Given the description of an element on the screen output the (x, y) to click on. 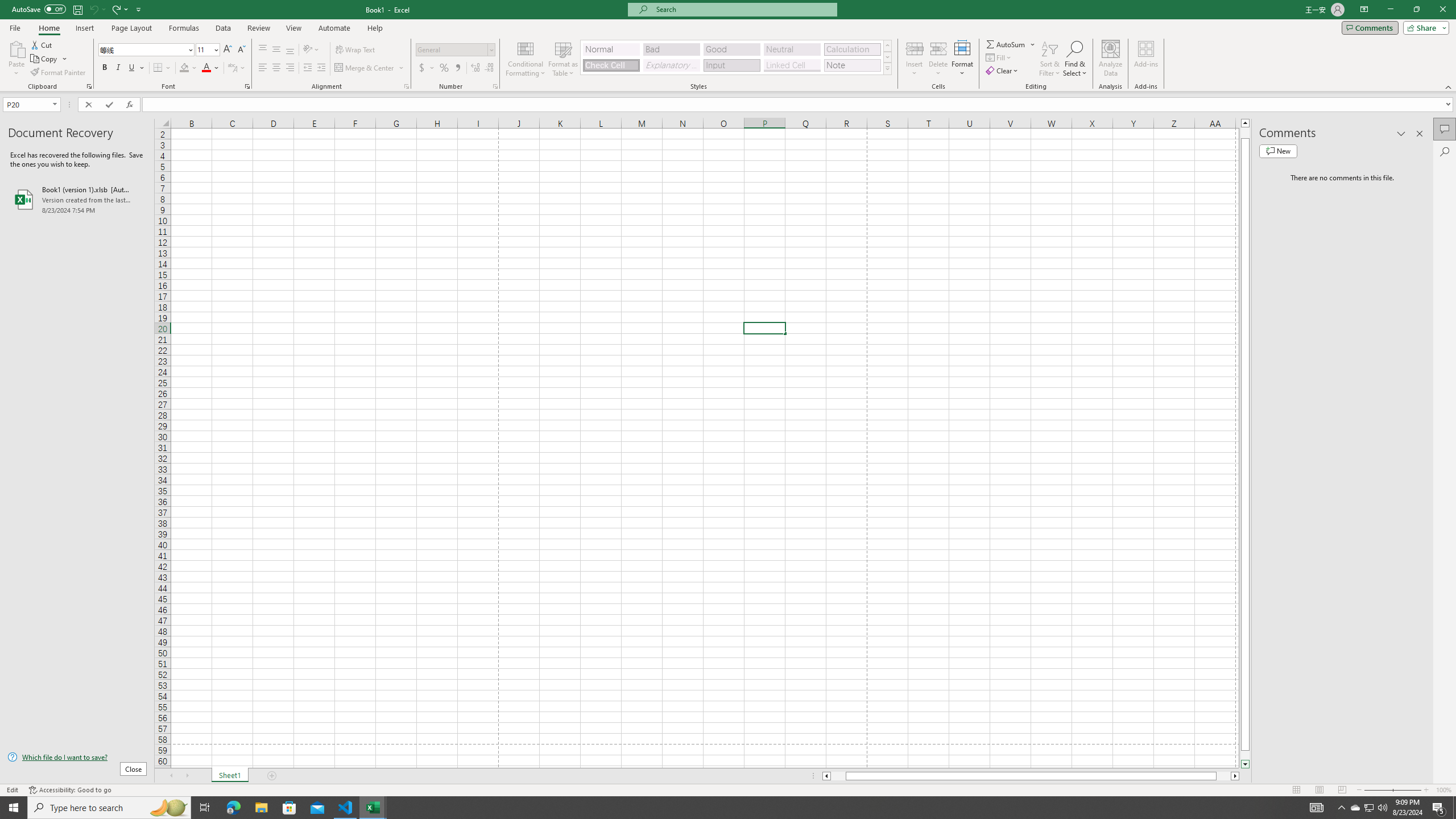
Orientation (311, 49)
Bold (104, 67)
Font (142, 49)
Cut (42, 44)
Analyze Data (1110, 58)
Delete (938, 58)
Format Cell Number (494, 85)
Increase Decimal (474, 67)
